Given the description of an element on the screen output the (x, y) to click on. 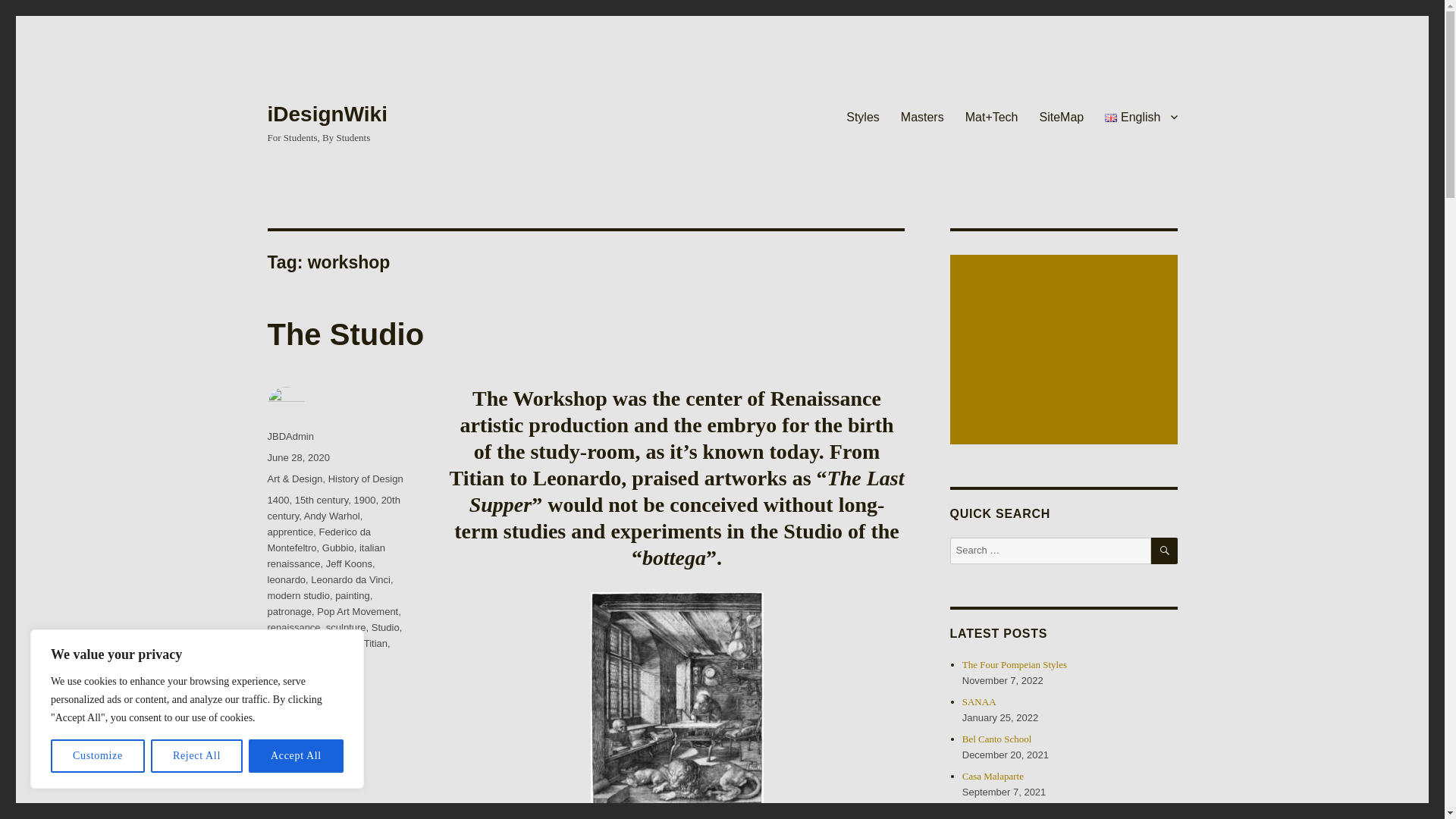
Customize (97, 756)
Accept All (295, 756)
Masters (922, 116)
SiteMap (1061, 116)
English (1141, 116)
The Studio (344, 334)
Advertisement (1065, 350)
Reject All (197, 756)
Styles (862, 116)
iDesignWiki (326, 114)
